Given the description of an element on the screen output the (x, y) to click on. 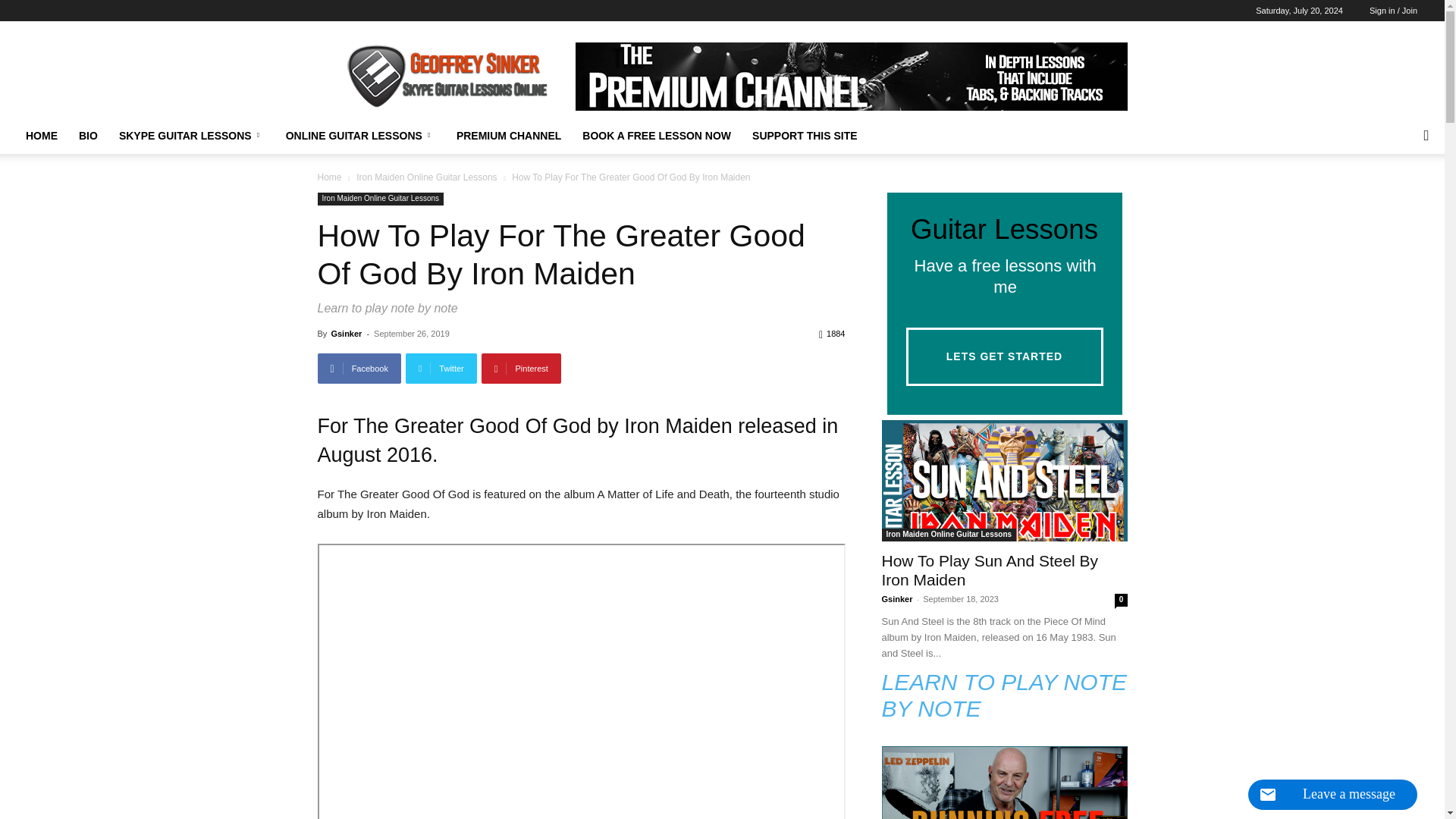
BIO (87, 135)
Leave a message (1331, 794)
HOME (41, 135)
SKYPE GUITAR LESSONS (191, 135)
Skype Guitar Lessons (445, 76)
